Given the description of an element on the screen output the (x, y) to click on. 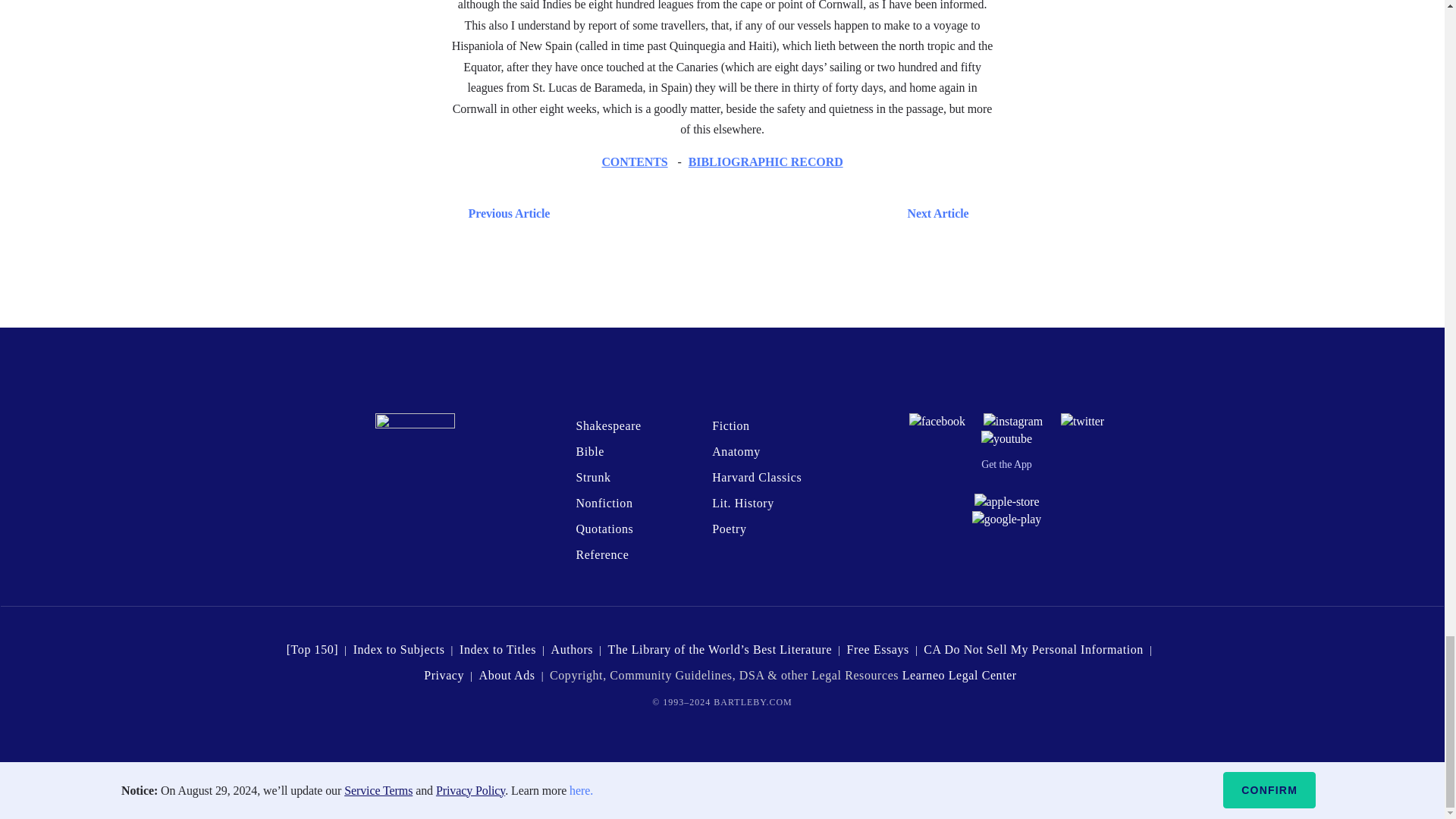
Lit. History (742, 502)
Reference (601, 554)
Fiction (730, 425)
Nonfiction (603, 502)
Previous Article (505, 213)
Bible (589, 451)
Shakespeare (607, 425)
Anatomy (735, 451)
Next Article (766, 213)
Quotations (604, 528)
